Given the description of an element on the screen output the (x, y) to click on. 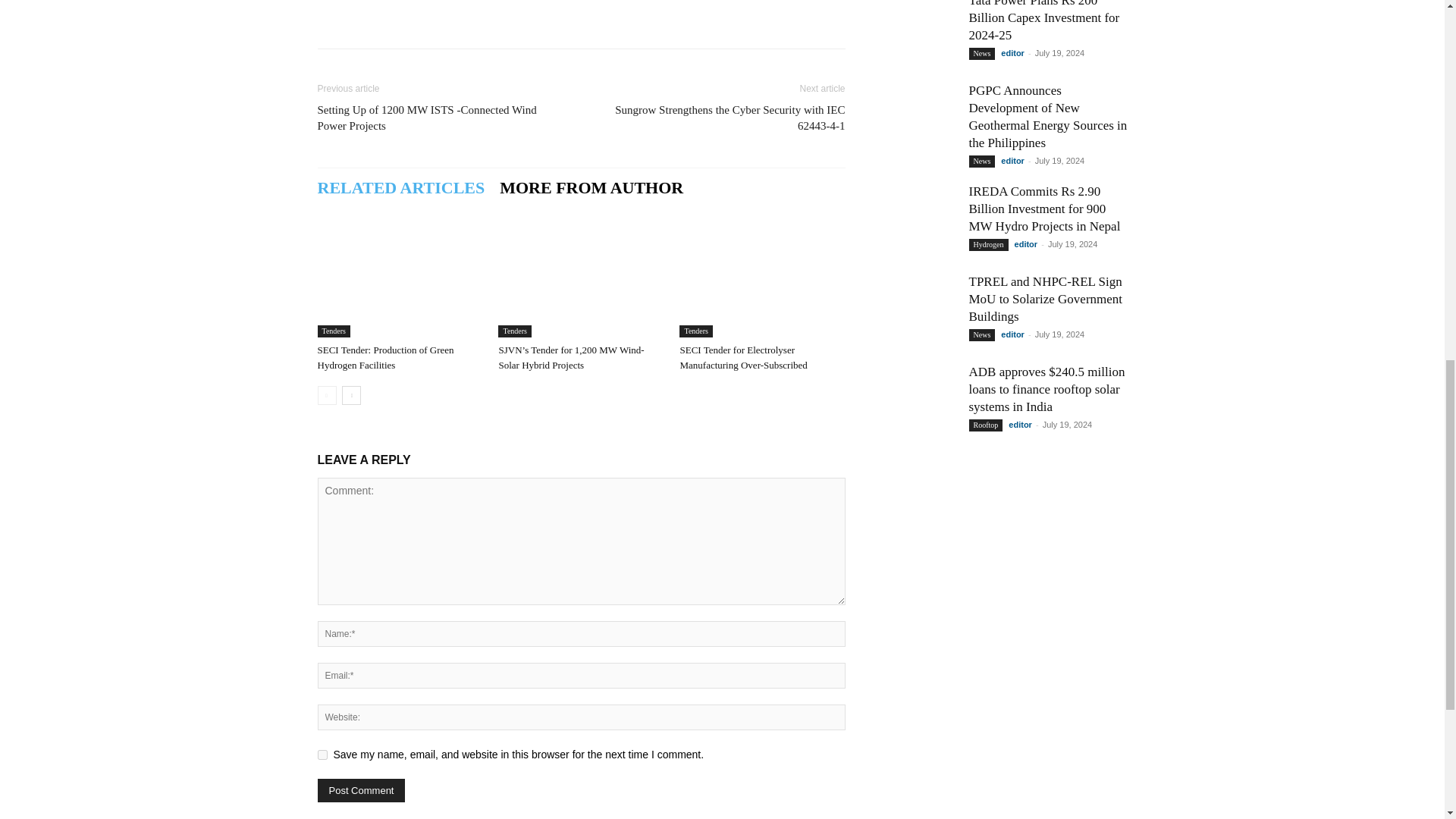
yes (321, 755)
Post Comment (360, 790)
